Given the description of an element on the screen output the (x, y) to click on. 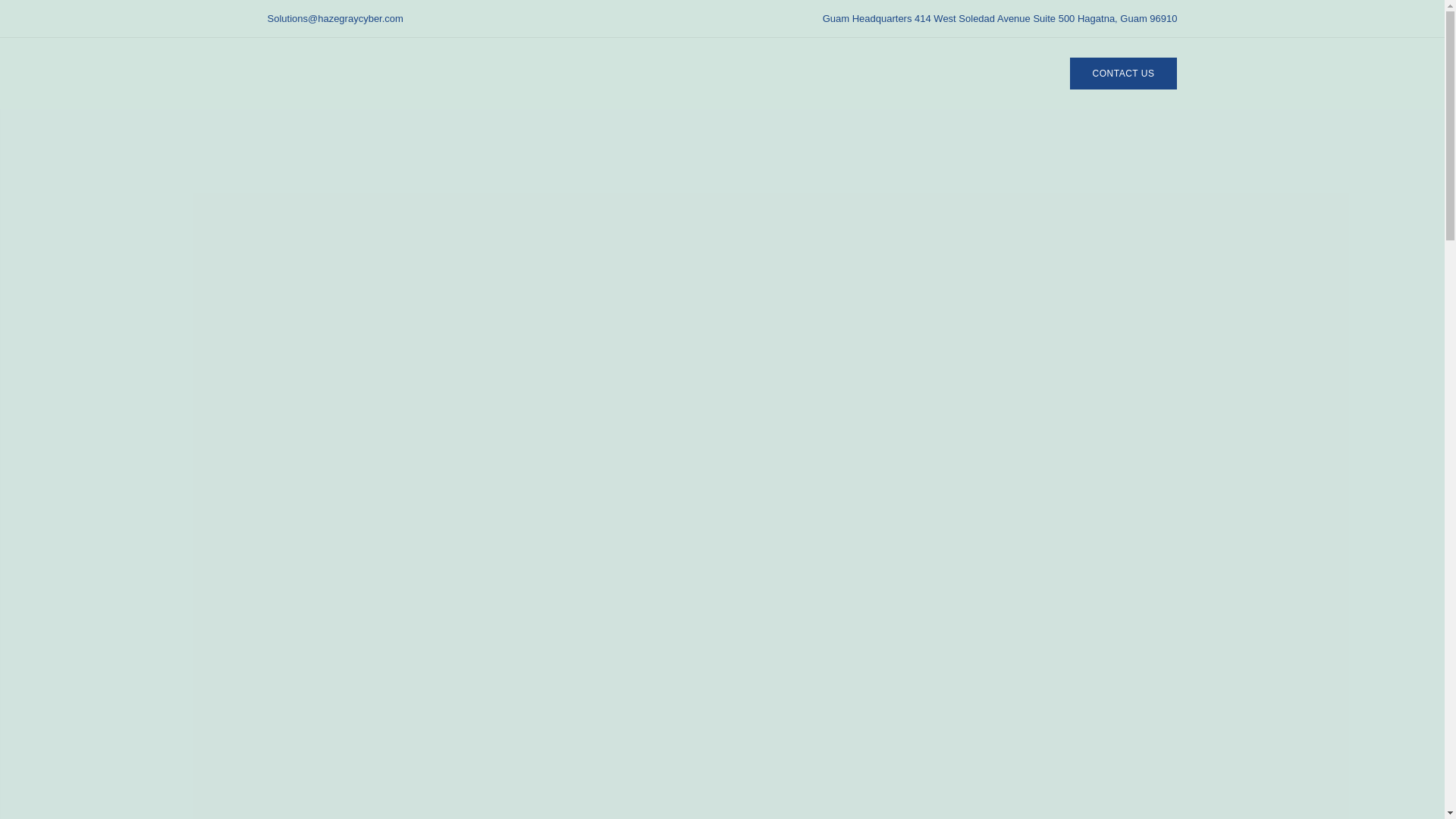
CONTACT US (1123, 73)
CONTACT US (1123, 73)
